Given the description of an element on the screen output the (x, y) to click on. 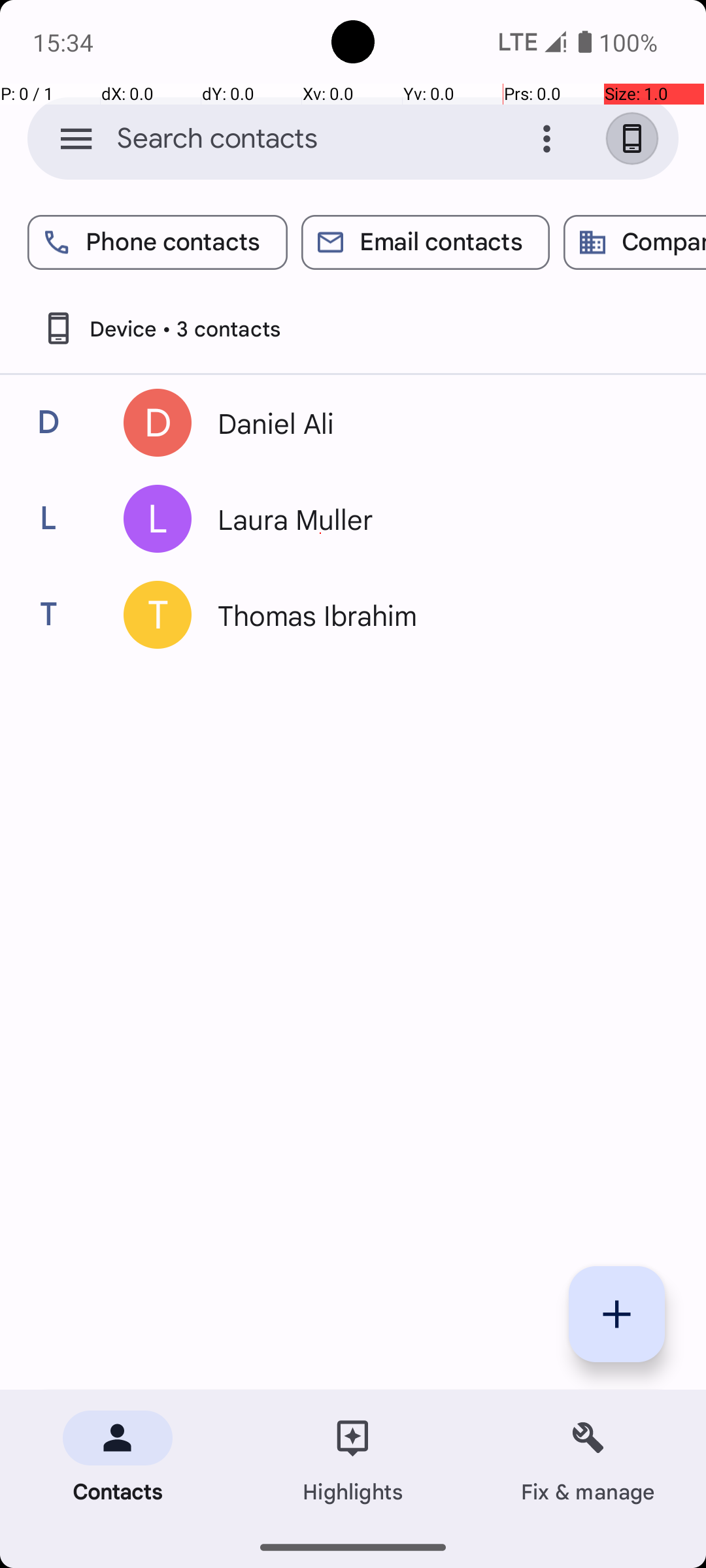
Device • 3 contacts Element type: android.widget.TextView (161, 328)
Daniel Ali Element type: android.widget.TextView (434, 422)
Laura Muller Element type: android.widget.TextView (434, 518)
Thomas Ibrahim Element type: android.widget.TextView (434, 614)
